Given the description of an element on the screen output the (x, y) to click on. 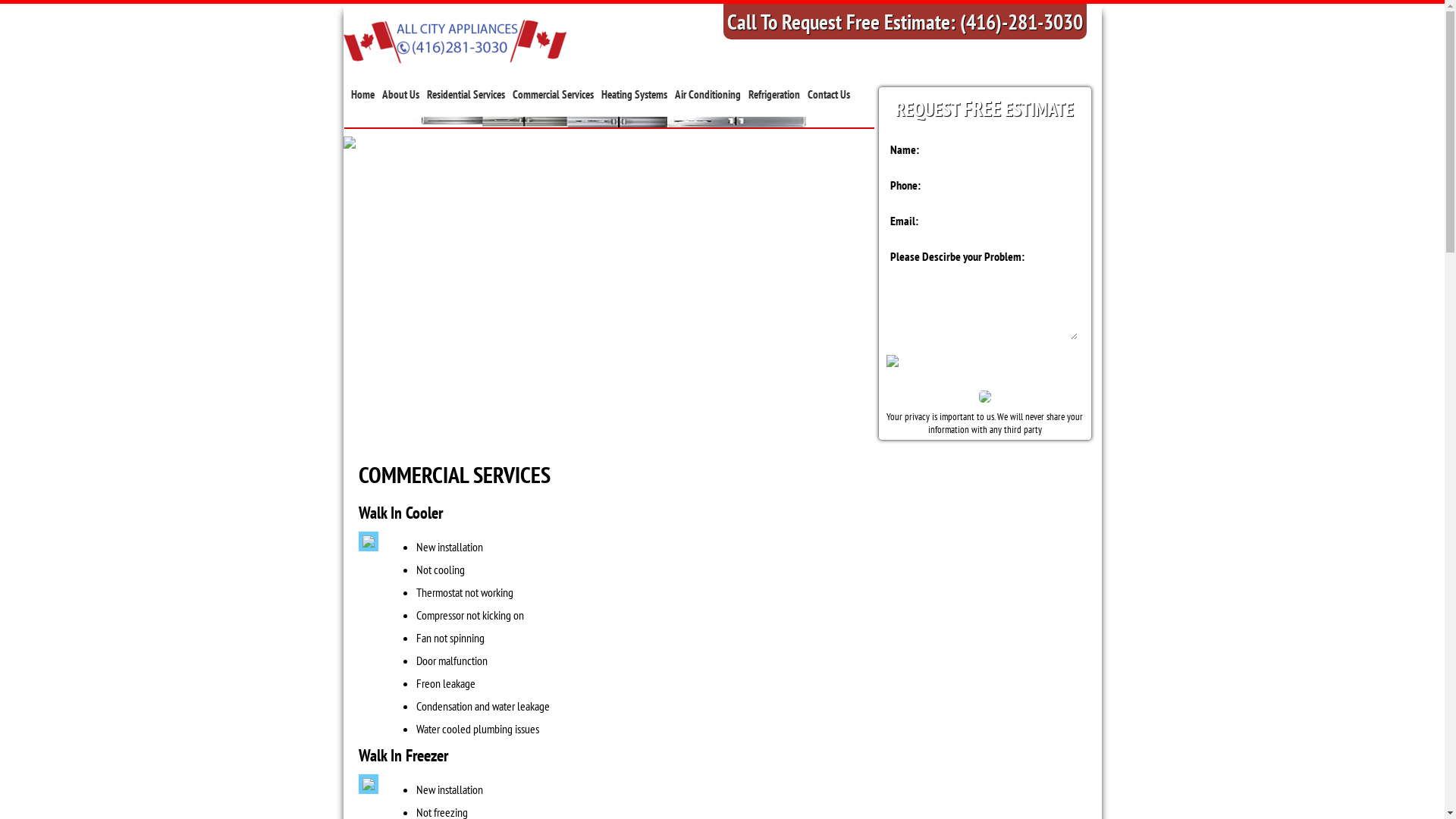
Residential Services Element type: text (465, 94)
Air Conditioning Element type: text (707, 94)
Commercial Services Element type: text (552, 94)
Heating Systems Element type: text (633, 94)
Home Element type: text (361, 94)
Refrigeration Element type: text (773, 94)
Contact Us Element type: text (827, 94)
About Us Element type: text (400, 94)
